Given the description of an element on the screen output the (x, y) to click on. 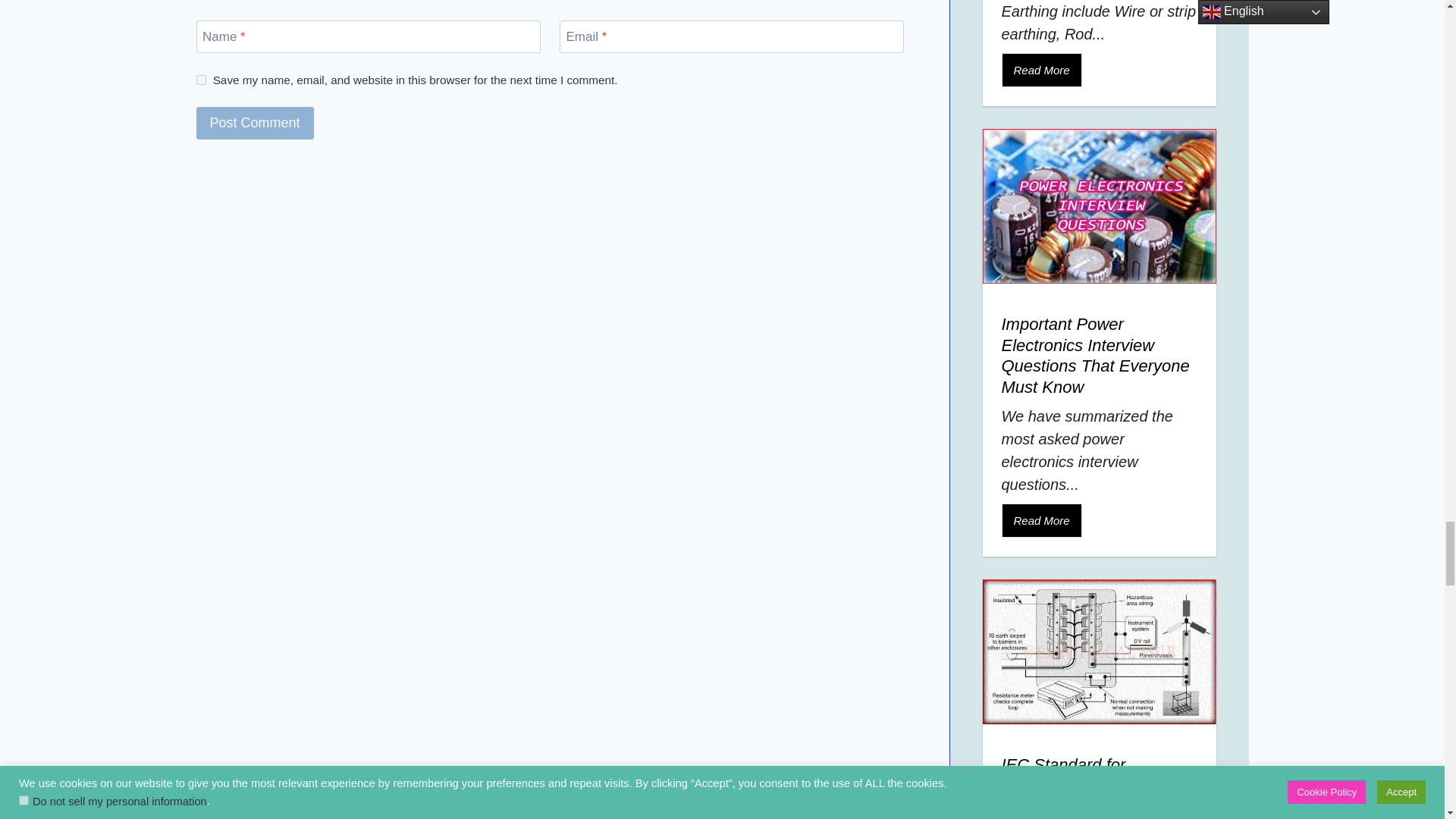
Post Comment (254, 123)
yes (200, 80)
